Given the description of an element on the screen output the (x, y) to click on. 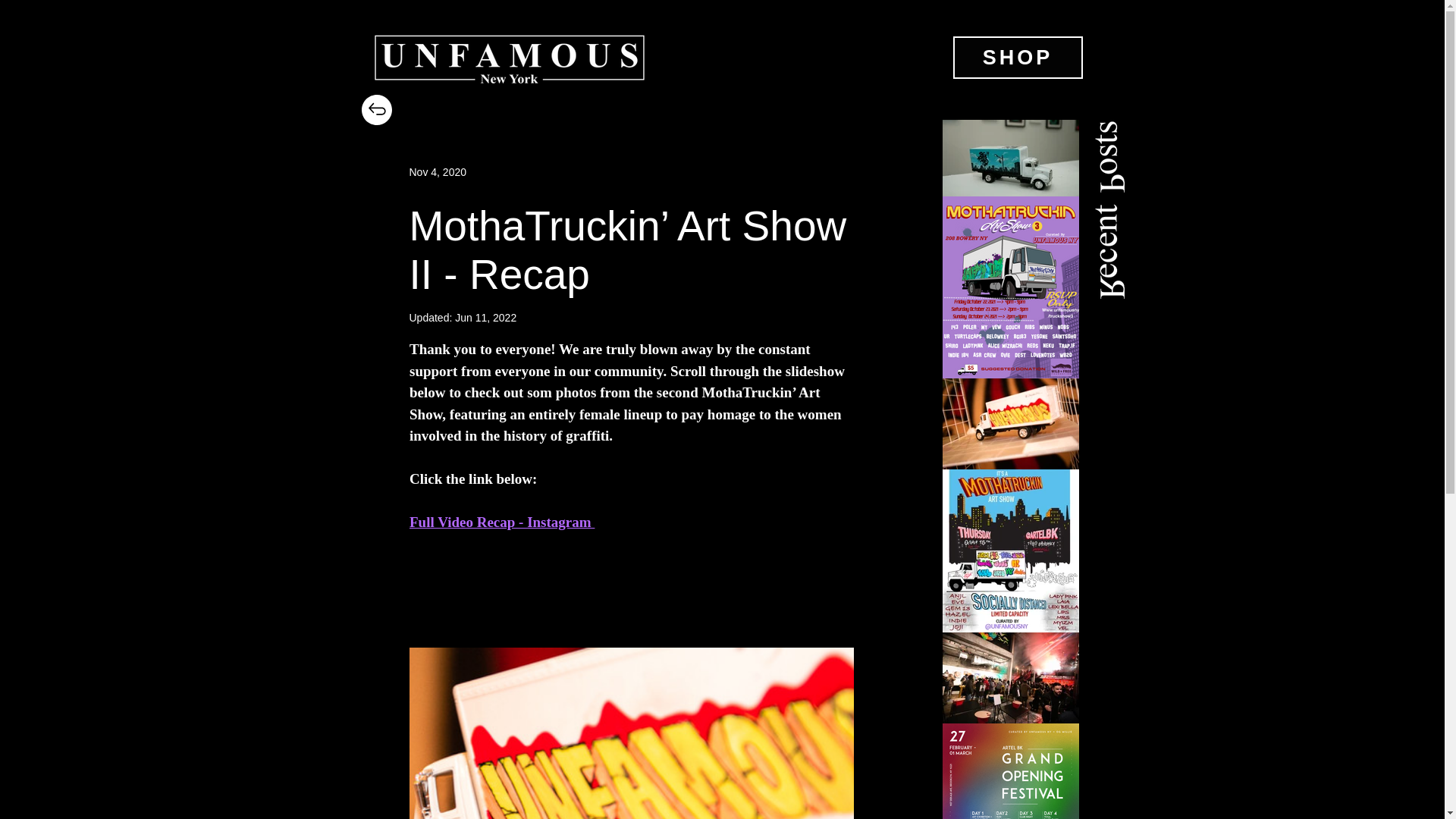
SHOP (1016, 57)
Nov 4, 2020 (438, 171)
Jun 11, 2022 (485, 317)
Full Video Recap - Instagram  (501, 521)
